Given the description of an element on the screen output the (x, y) to click on. 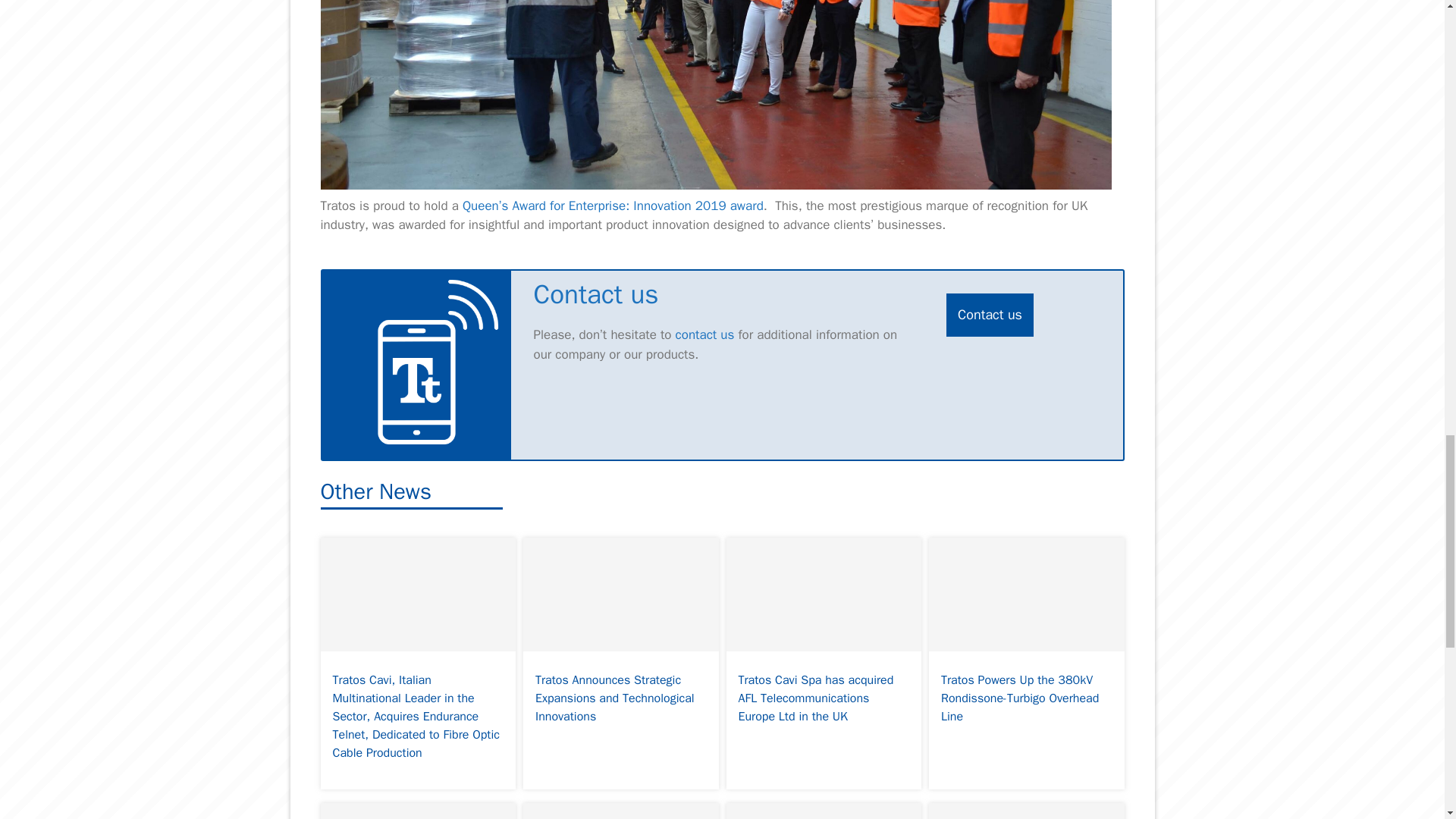
Powering a Sustainable Future with Cables (417, 811)
Tratos participates in the round table on Fusion Energy (1026, 811)
